Given the description of an element on the screen output the (x, y) to click on. 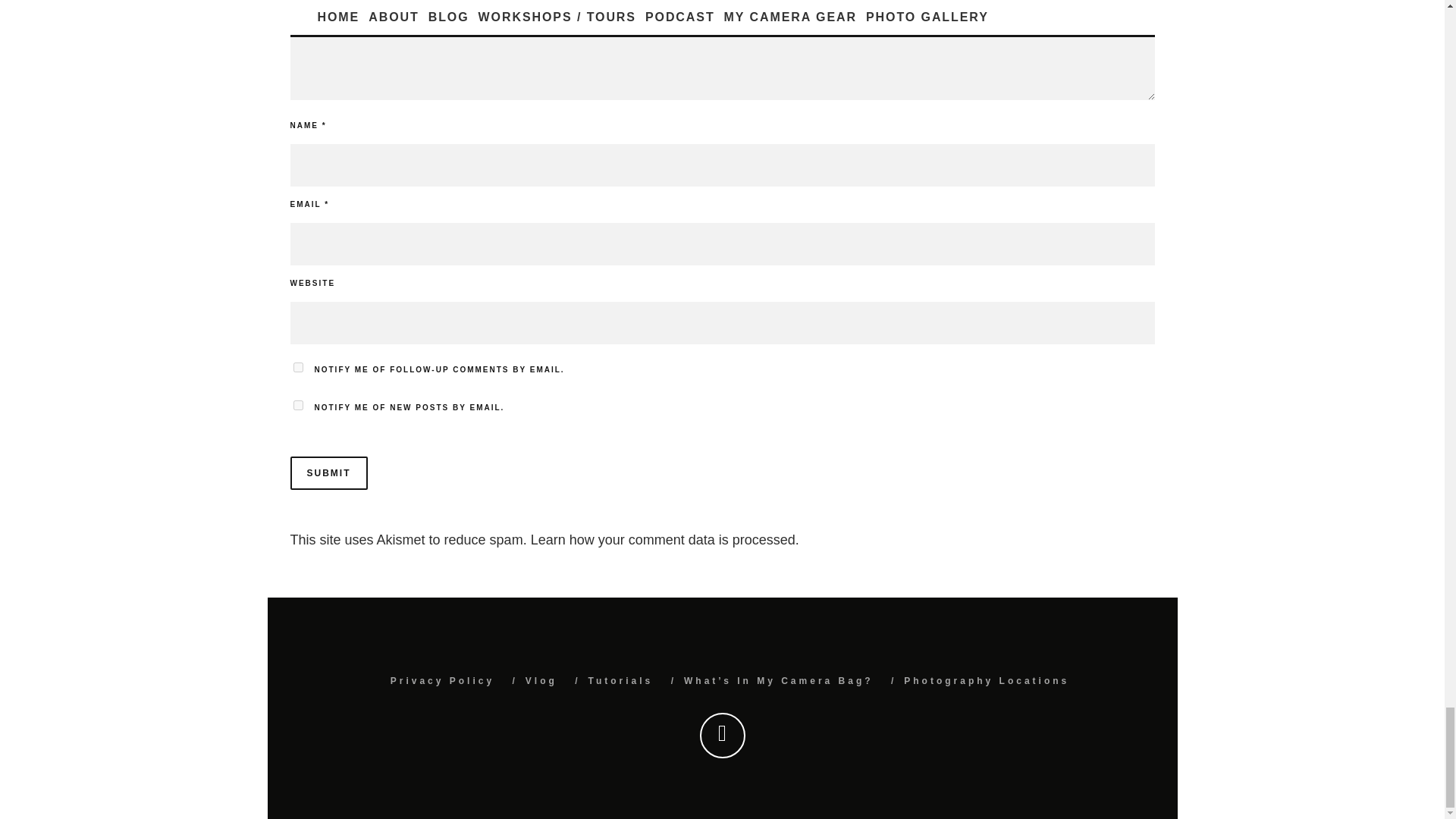
Submit (327, 472)
subscribe (297, 367)
subscribe (297, 405)
